Given the description of an element on the screen output the (x, y) to click on. 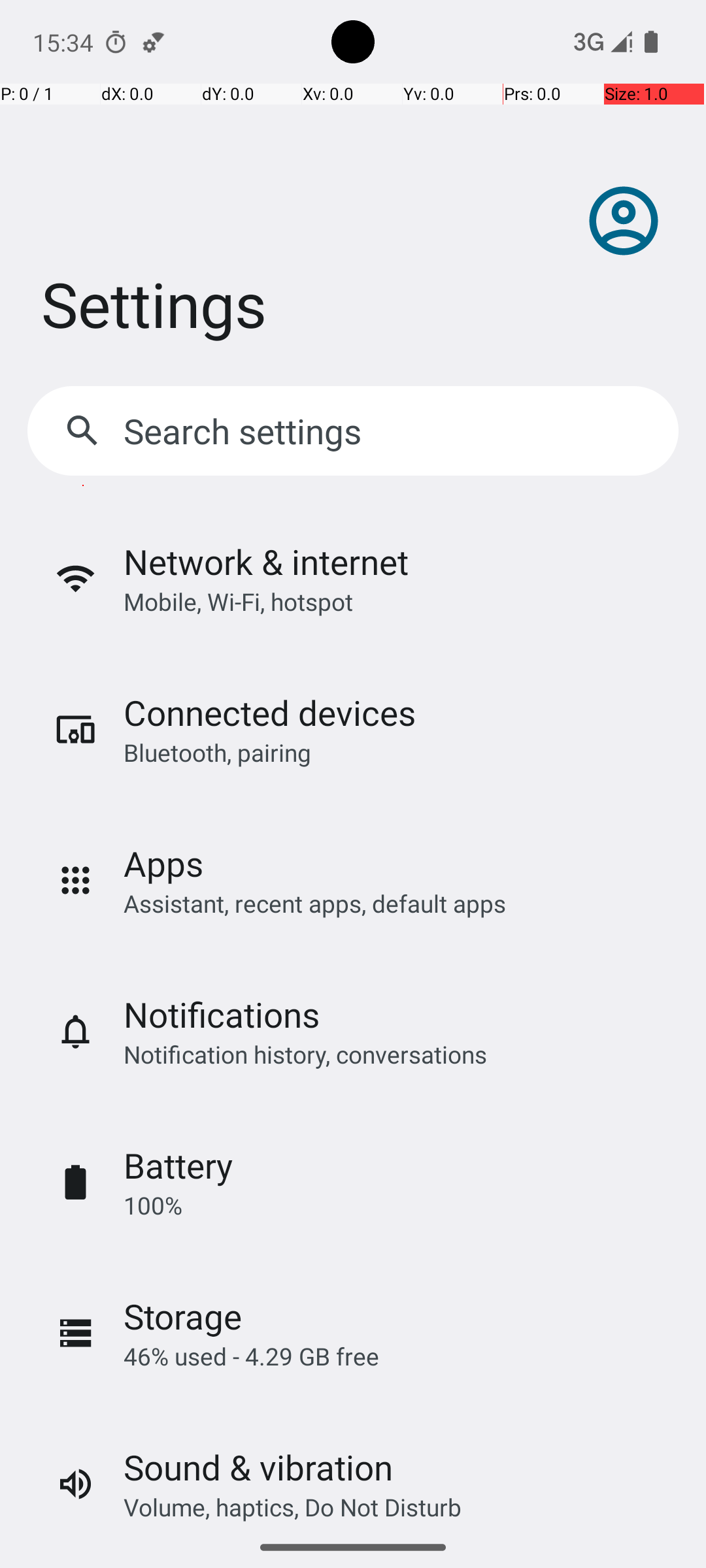
46% used - 4.29 GB free Element type: android.widget.TextView (251, 1355)
